Given the description of an element on the screen output the (x, y) to click on. 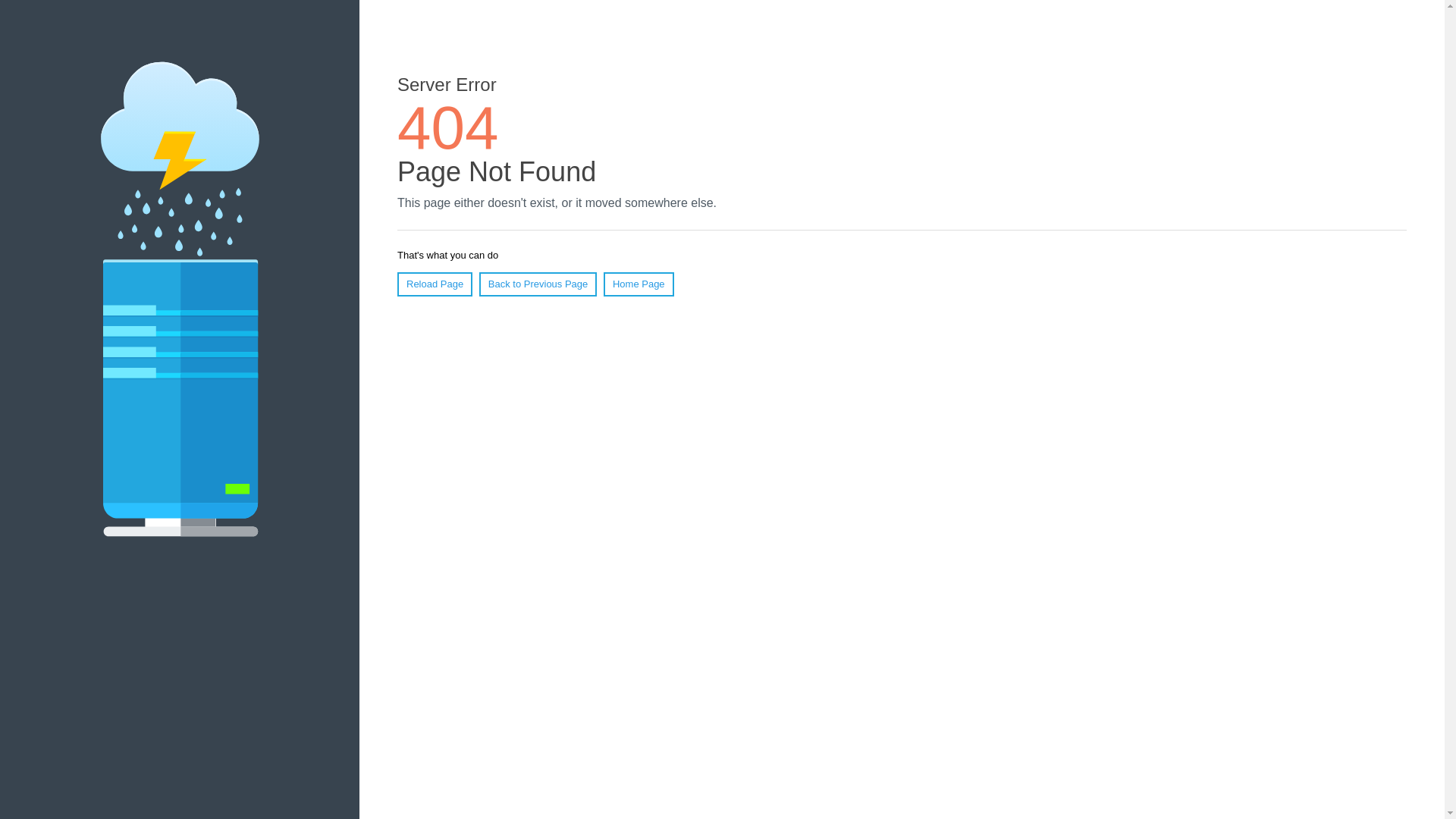
Reload Page Element type: text (434, 284)
Home Page Element type: text (638, 284)
Back to Previous Page Element type: text (538, 284)
